Given the description of an element on the screen output the (x, y) to click on. 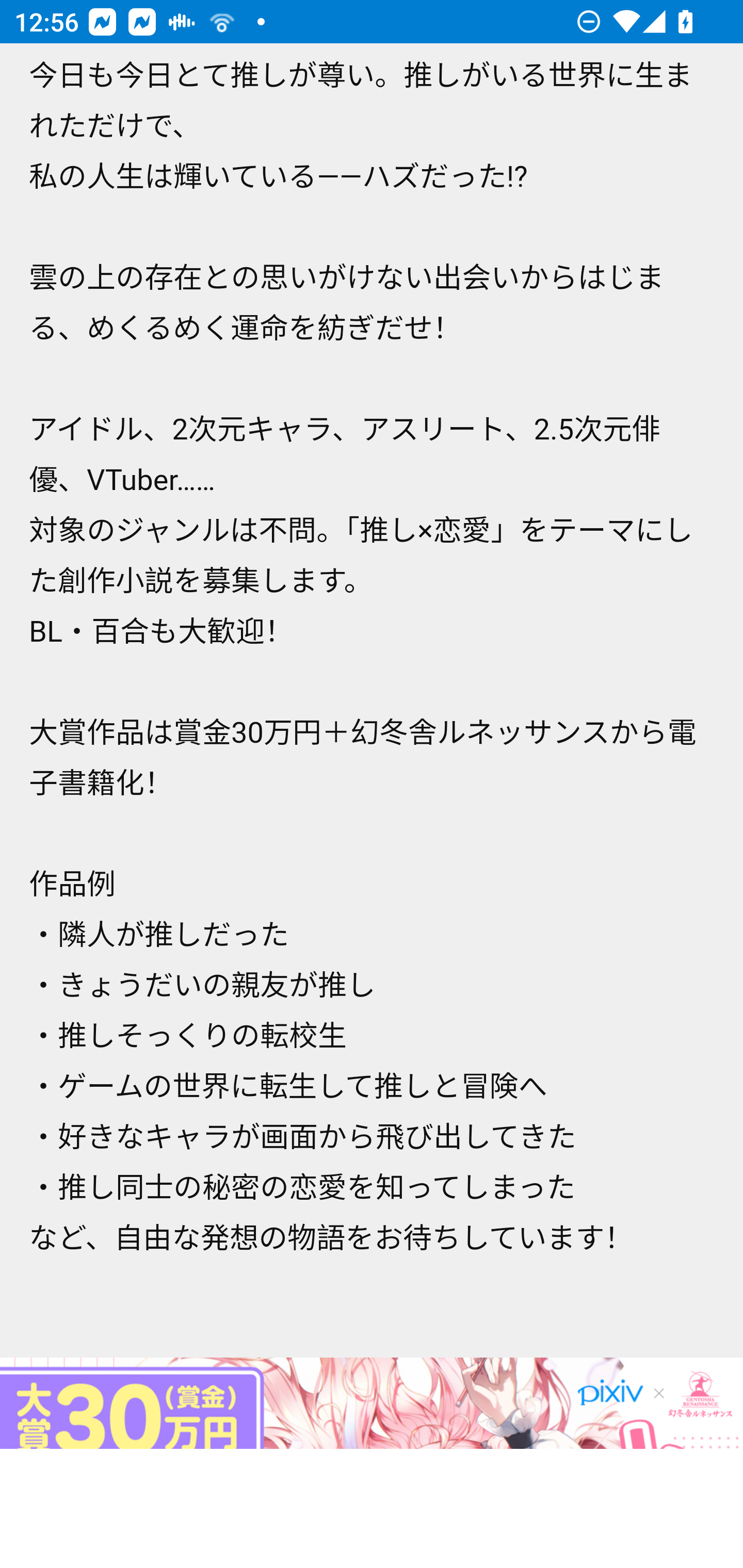
「推し」×ヒミツの恋愛“推し恋”小説コンテスト　開催 (371, 1402)
